Given the description of an element on the screen output the (x, y) to click on. 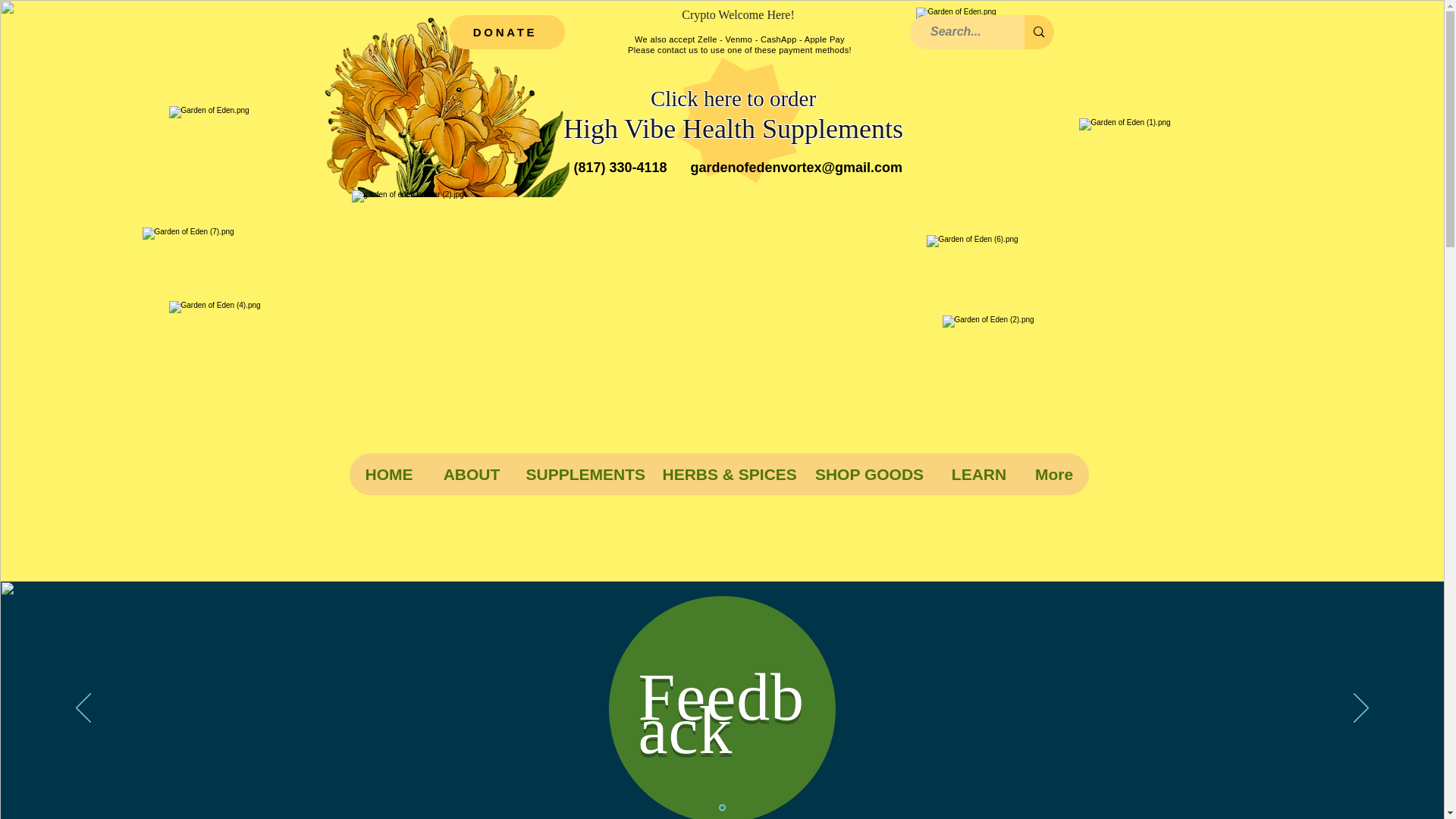
SUPPLEMENTS (581, 474)
Click here to order (732, 98)
HOME (388, 474)
High Vibe Health Supplements (732, 128)
